Given the description of an element on the screen output the (x, y) to click on. 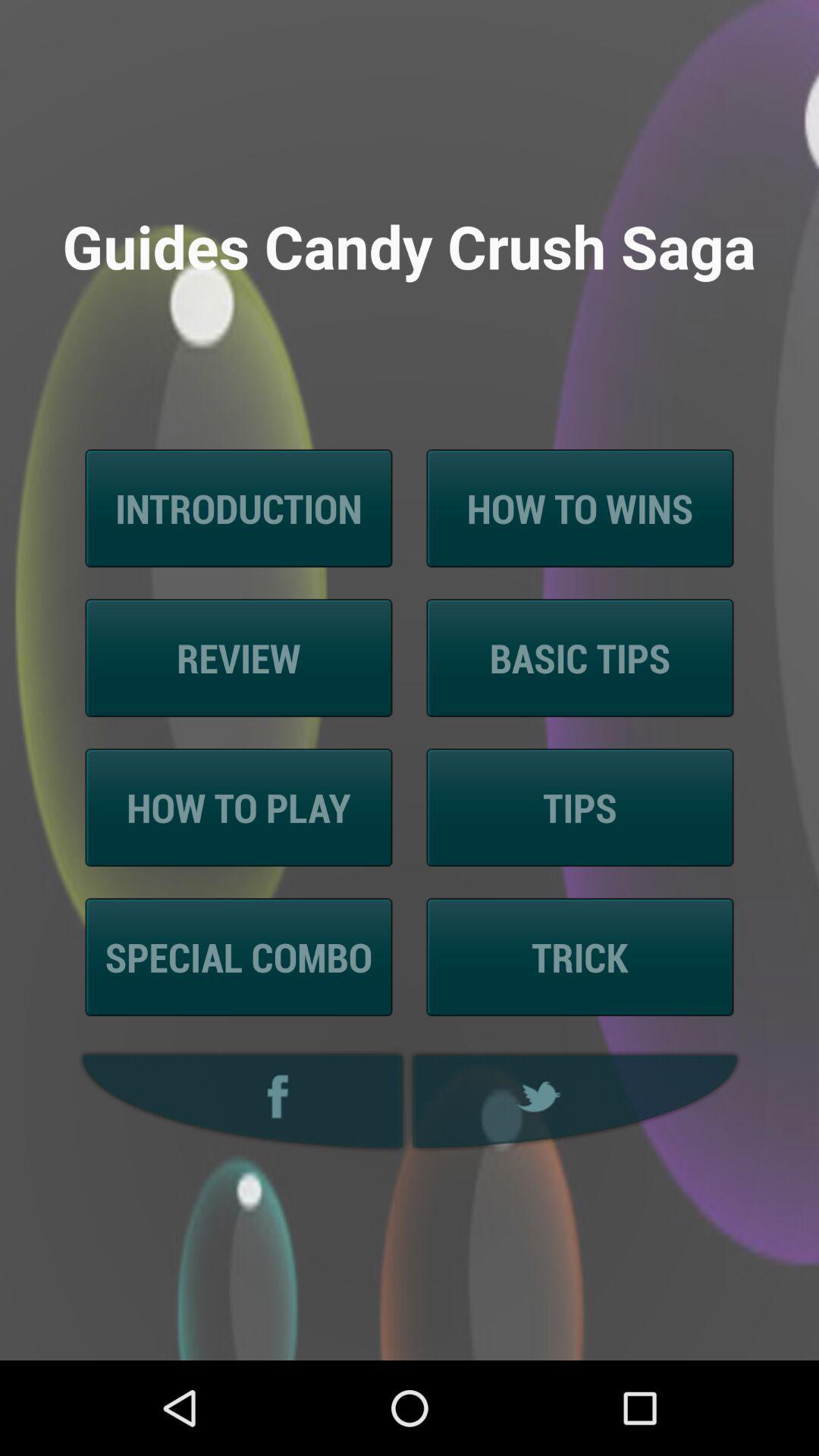
launch the basic tips item (579, 657)
